Given the description of an element on the screen output the (x, y) to click on. 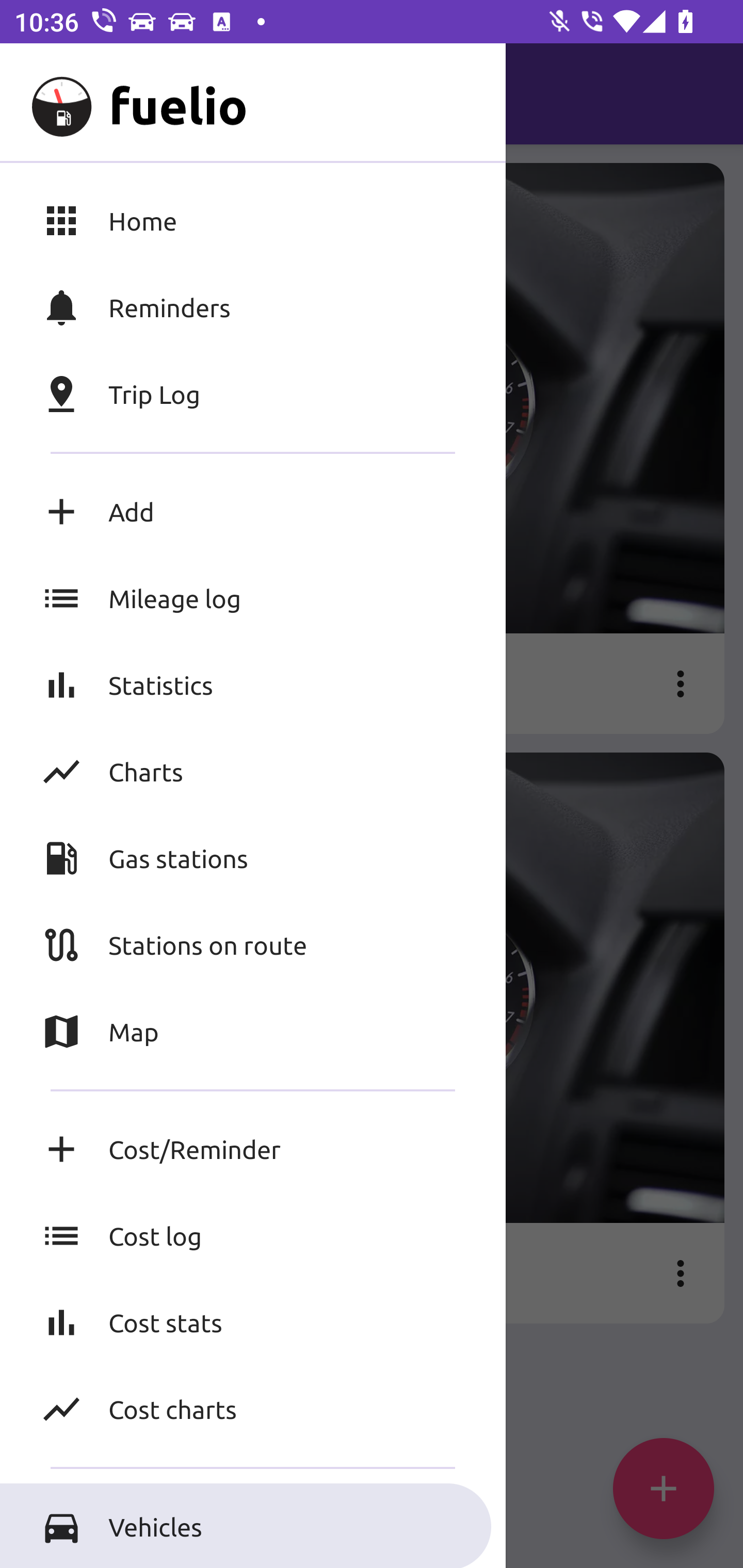
MenuDrawer (50, 93)
Home (252, 220)
Reminders (252, 307)
Trip Log (252, 394)
Add (252, 511)
Mileage log (252, 598)
Statistics (252, 684)
Charts (252, 771)
Gas stations (252, 858)
Stations on route (252, 944)
Map (252, 1031)
Cost/Reminder (252, 1149)
Cost log (252, 1236)
Cost stats (252, 1322)
Cost charts (252, 1408)
Vehicles (252, 1525)
